Given the description of an element on the screen output the (x, y) to click on. 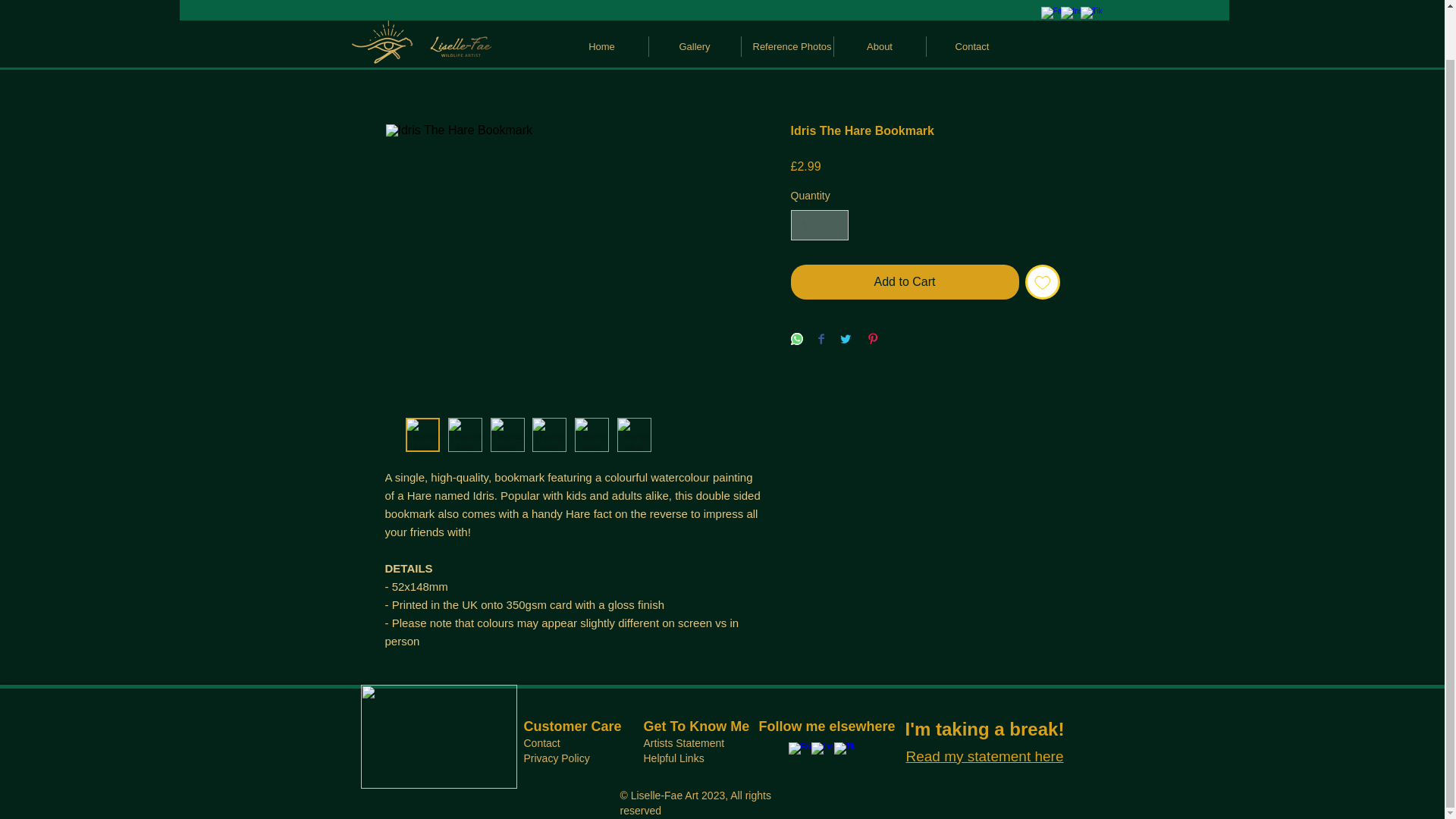
Helpful Links (673, 758)
Contact (540, 743)
Get To Know Me (696, 726)
Artists Statement (683, 743)
Contact (971, 2)
Follow me elsewhere (826, 726)
Reference Photos (786, 2)
Read my statement here (983, 754)
Home (600, 2)
Add to Cart (903, 281)
Customer Care (571, 726)
Privacy Policy (555, 758)
1 (818, 224)
Gallery (695, 2)
